Given the description of an element on the screen output the (x, y) to click on. 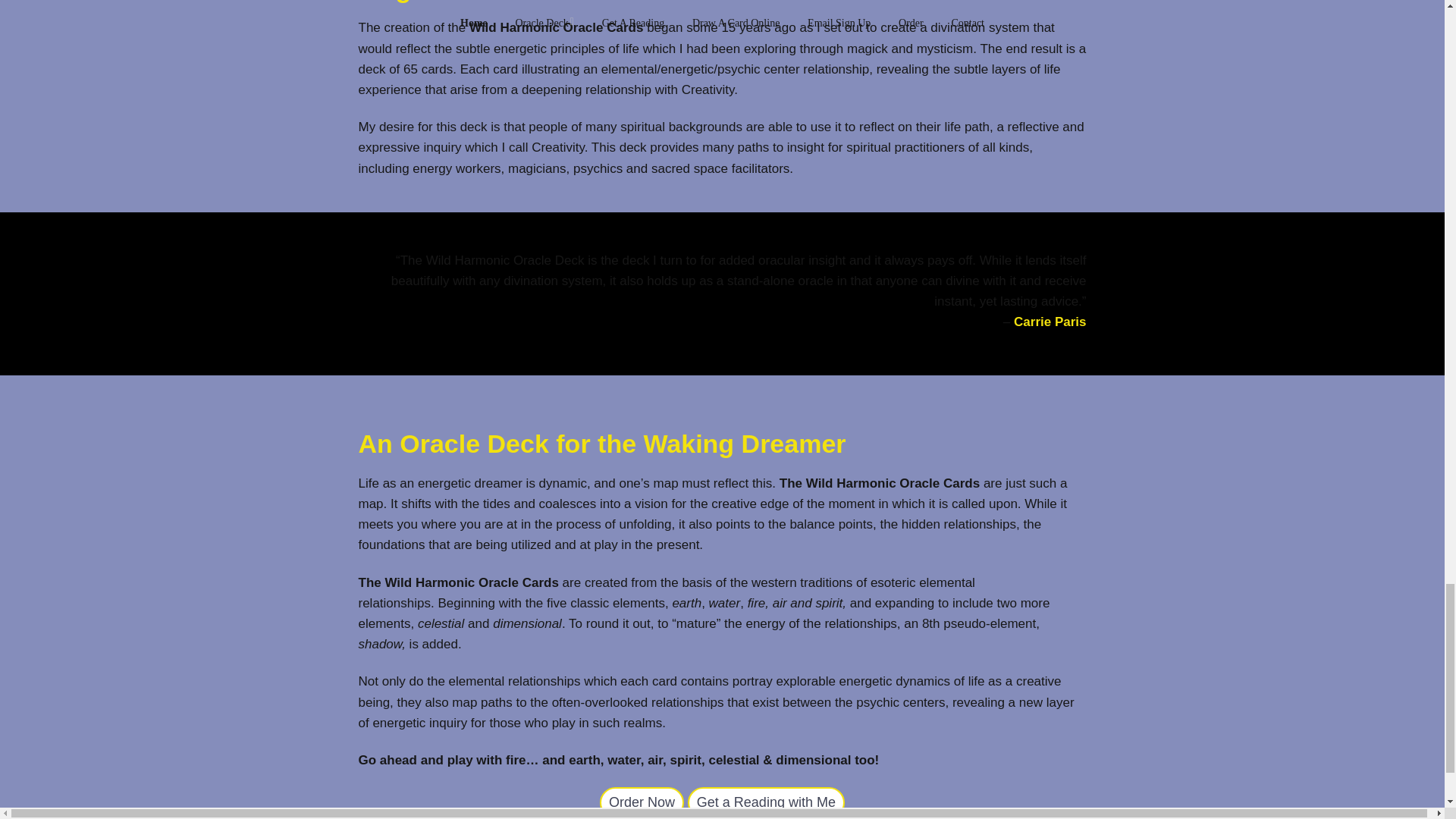
Card Guide (641, 802)
Carrie Paris (1049, 321)
Order Now (641, 802)
Card Guide (765, 802)
Get a Reading with Me (765, 802)
